Given the description of an element on the screen output the (x, y) to click on. 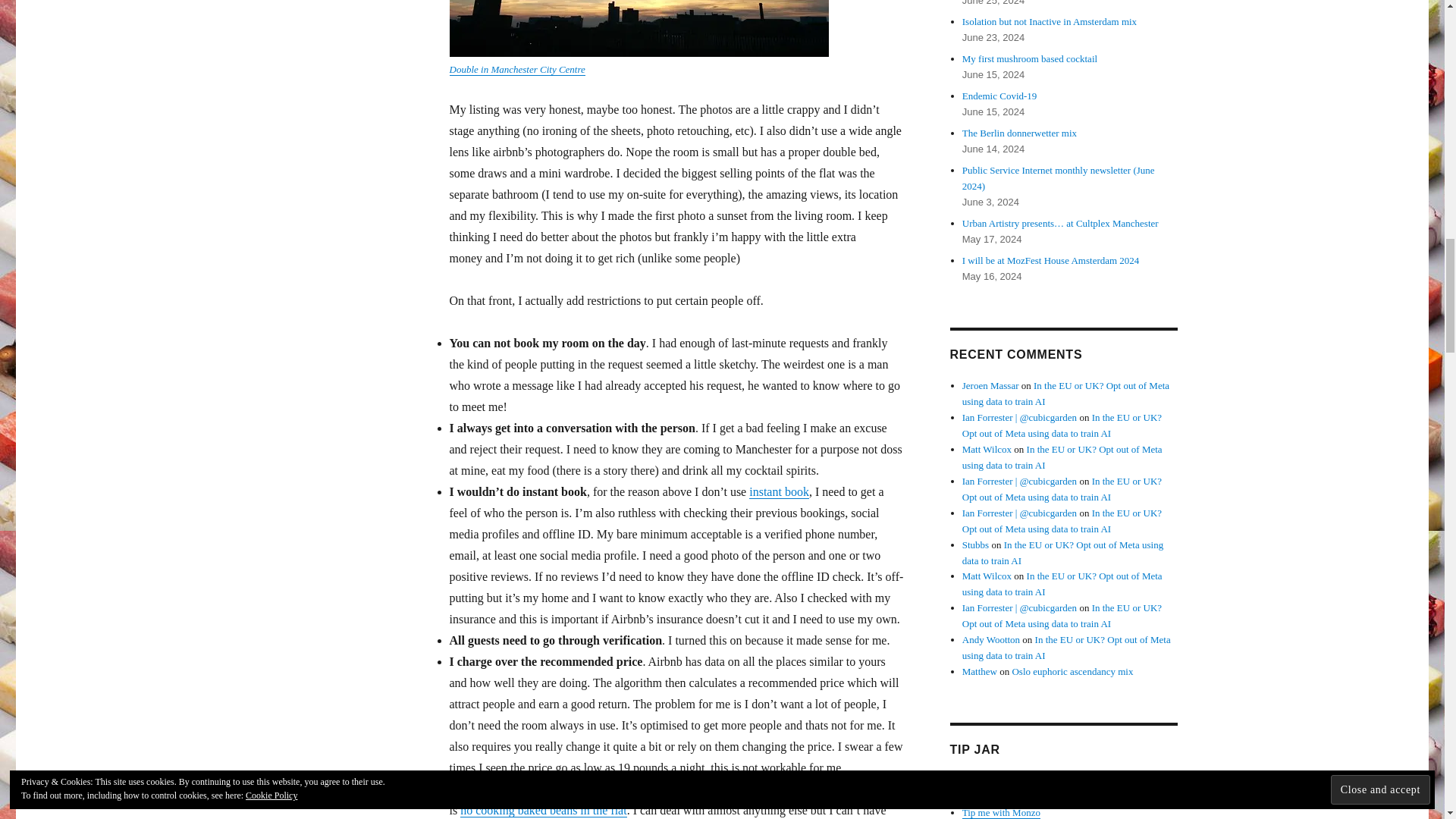
no cooking baked beans in the flat (543, 809)
instant book (779, 491)
Double in Manchester City Centre (516, 69)
